Given the description of an element on the screen output the (x, y) to click on. 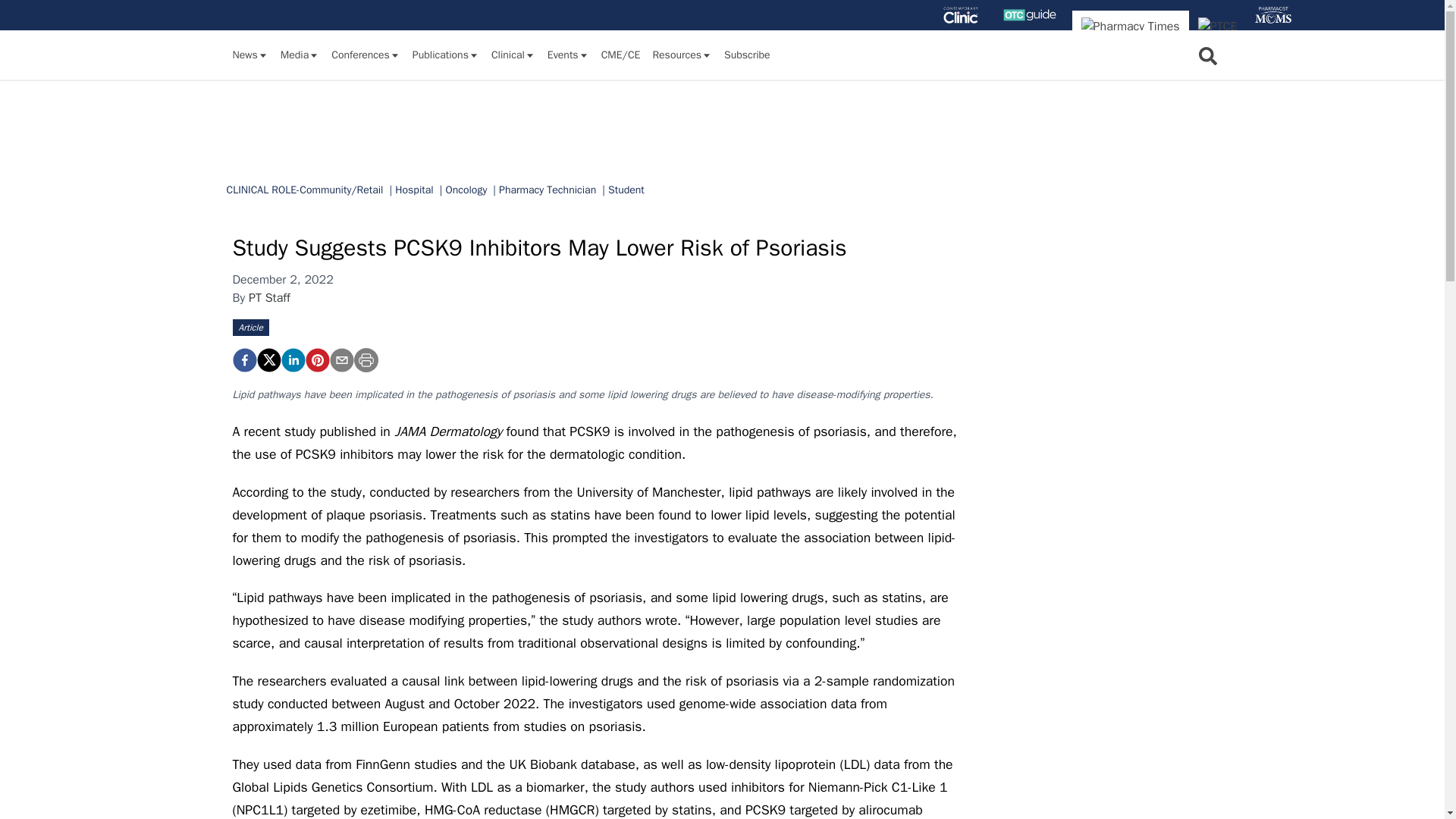
Study Suggests PCSK9 Inhibitors May Lower Risk of Psoriasis (316, 360)
Study Suggests PCSK9 Inhibitors May Lower Risk of Psoriasis (243, 360)
